Given the description of an element on the screen output the (x, y) to click on. 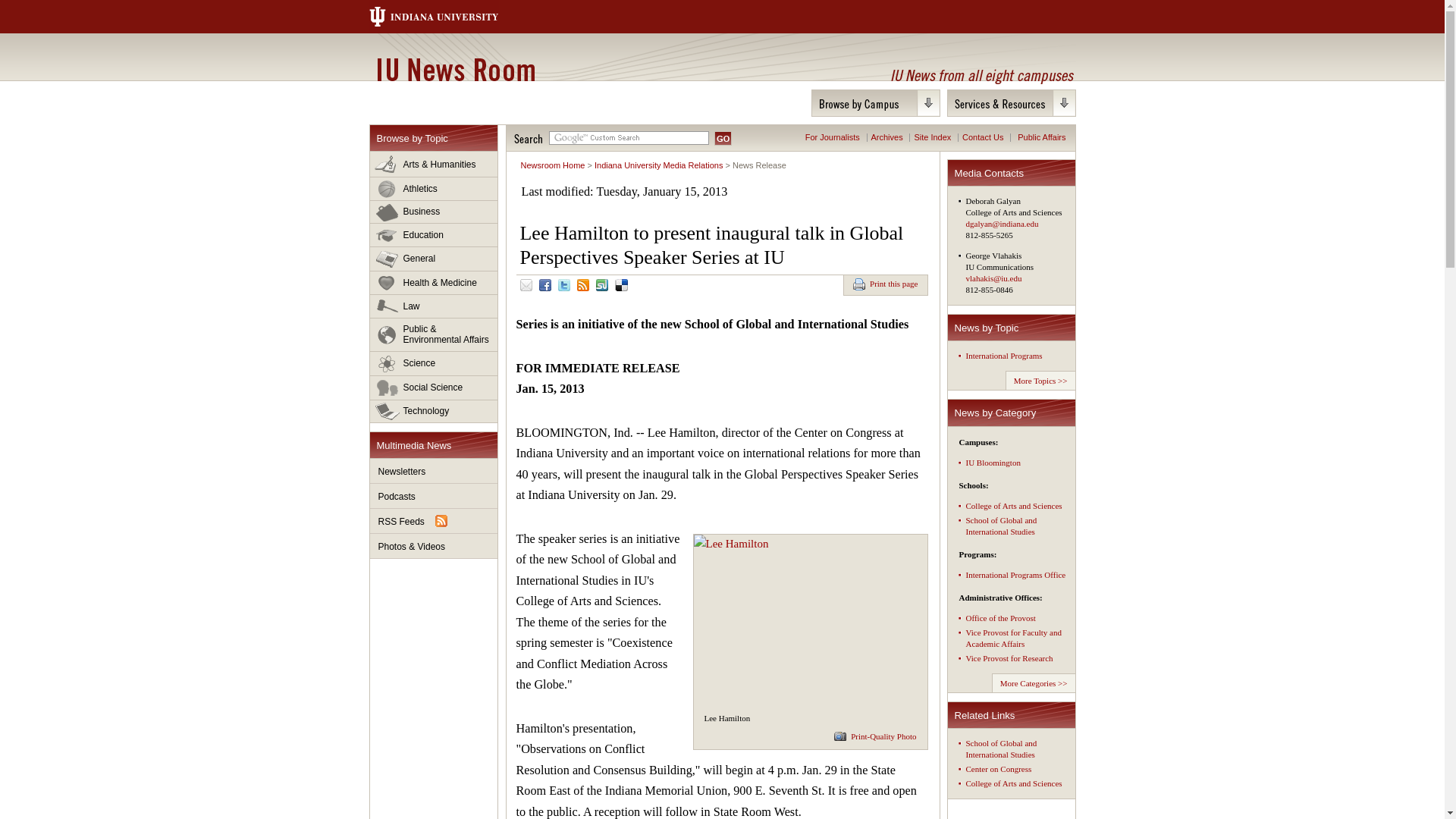
General (433, 259)
Business (433, 211)
General (433, 259)
Podcasts (433, 496)
Law (433, 306)
Social Science (433, 387)
Business (433, 211)
Athletics (433, 188)
Education (433, 235)
IU News Room (455, 69)
IU News Room (455, 69)
Education (433, 235)
Newsletters (433, 471)
Science (433, 363)
Athletics (433, 188)
